Given the description of an element on the screen output the (x, y) to click on. 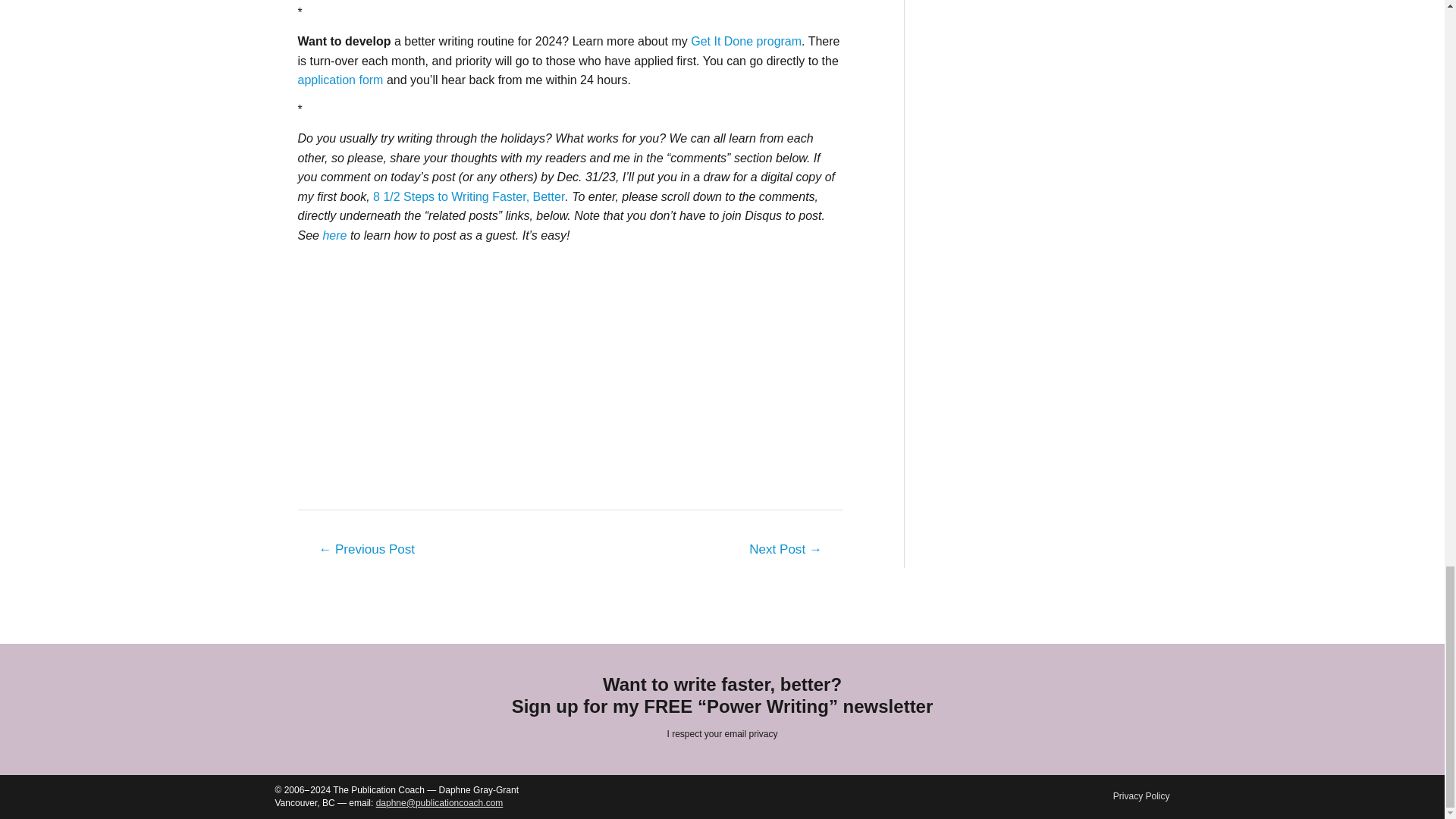
Get It Done program (746, 41)
application form  (341, 79)
here (335, 235)
The gift of small wins during super busy times (785, 551)
Are you too distracted to write? (365, 551)
